Given the description of an element on the screen output the (x, y) to click on. 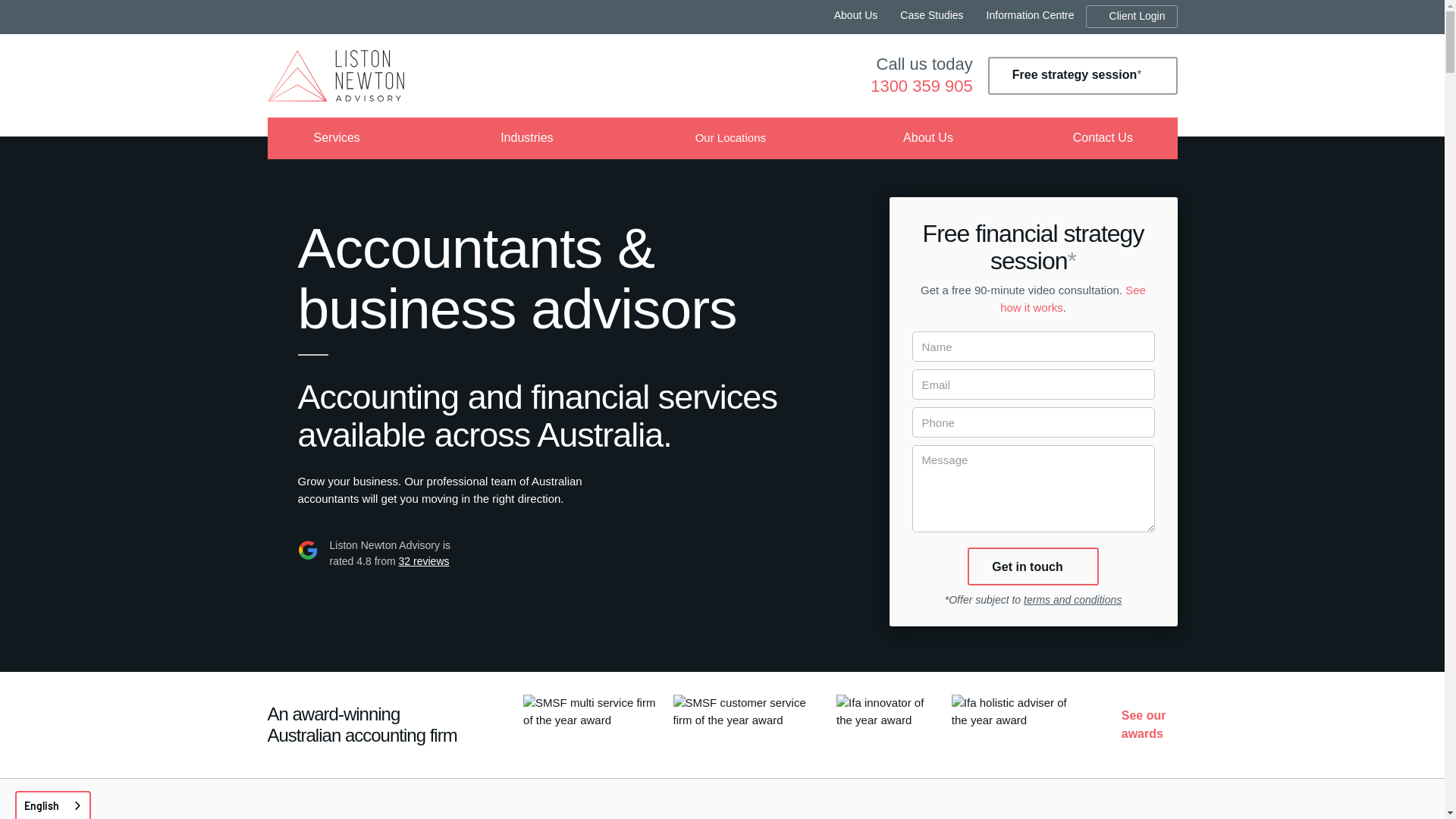
About Us Element type: text (855, 17)
Information Centre Element type: text (1030, 17)
32 reviews Element type: text (423, 561)
See how it works Element type: text (1072, 298)
Free strategy session* Element type: text (1082, 75)
Contact Us Element type: text (1102, 137)
Client Login Element type: text (1131, 16)
Get in touch Element type: text (1032, 566)
Industries Element type: text (525, 138)
See our awards Element type: text (1143, 724)
Case Studies Element type: text (931, 17)
Services Element type: text (335, 138)
terms and conditions Element type: text (1072, 599)
About Us Element type: text (928, 137)
1300 359 905 Element type: text (921, 85)
